Given the description of an element on the screen output the (x, y) to click on. 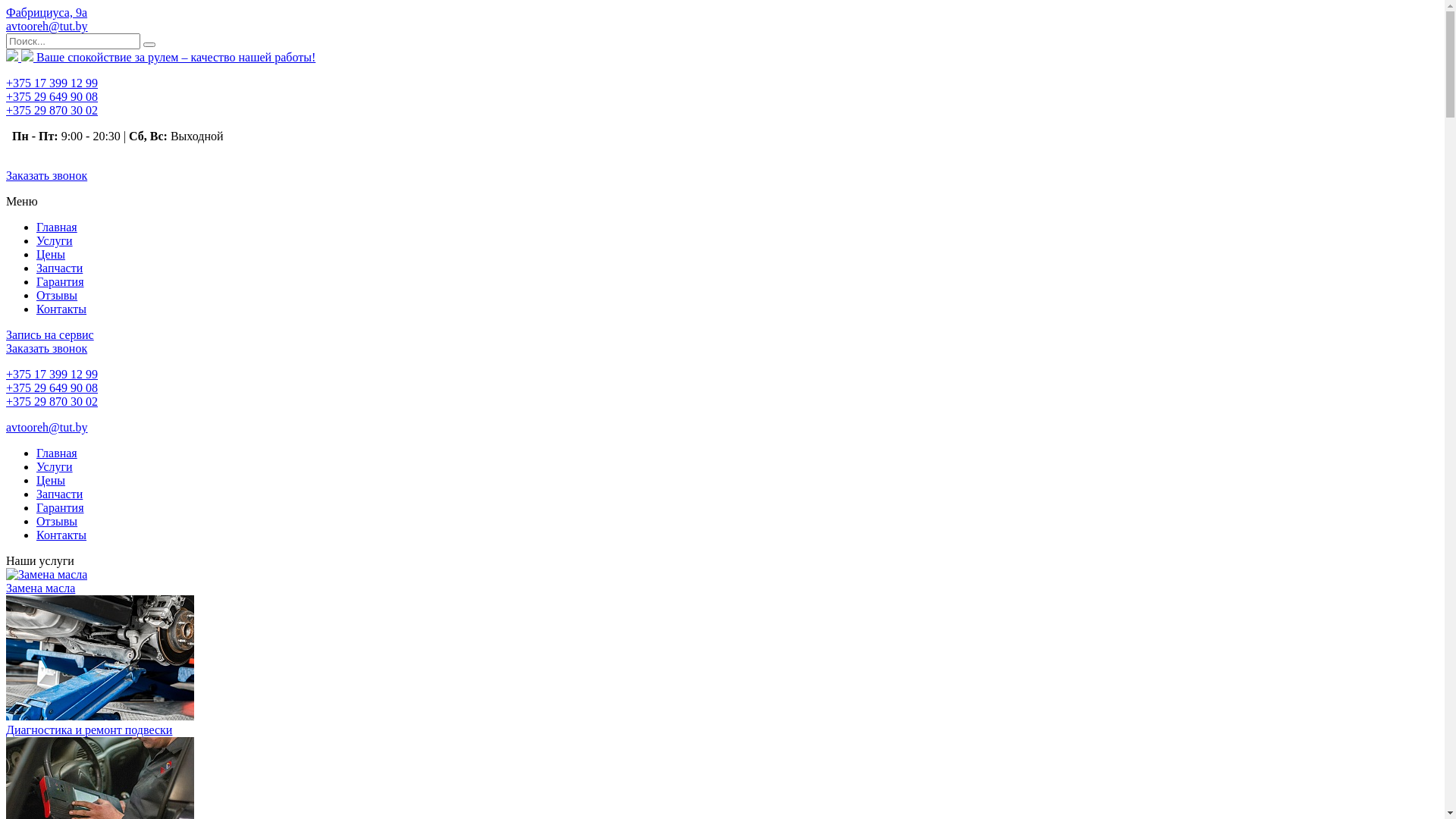
+375 17 399 12 99 Element type: text (51, 373)
avtooreh@tut.by Element type: text (46, 25)
+375 29 649 90 08 Element type: text (51, 387)
+375 29 649 90 08 Element type: text (51, 96)
avtooreh@tut.by Element type: text (46, 426)
+375 17 399 12 99 Element type: text (51, 82)
+375 29 870 30 02 Element type: text (51, 401)
+375 29 870 30 02 Element type: text (51, 109)
